Given the description of an element on the screen output the (x, y) to click on. 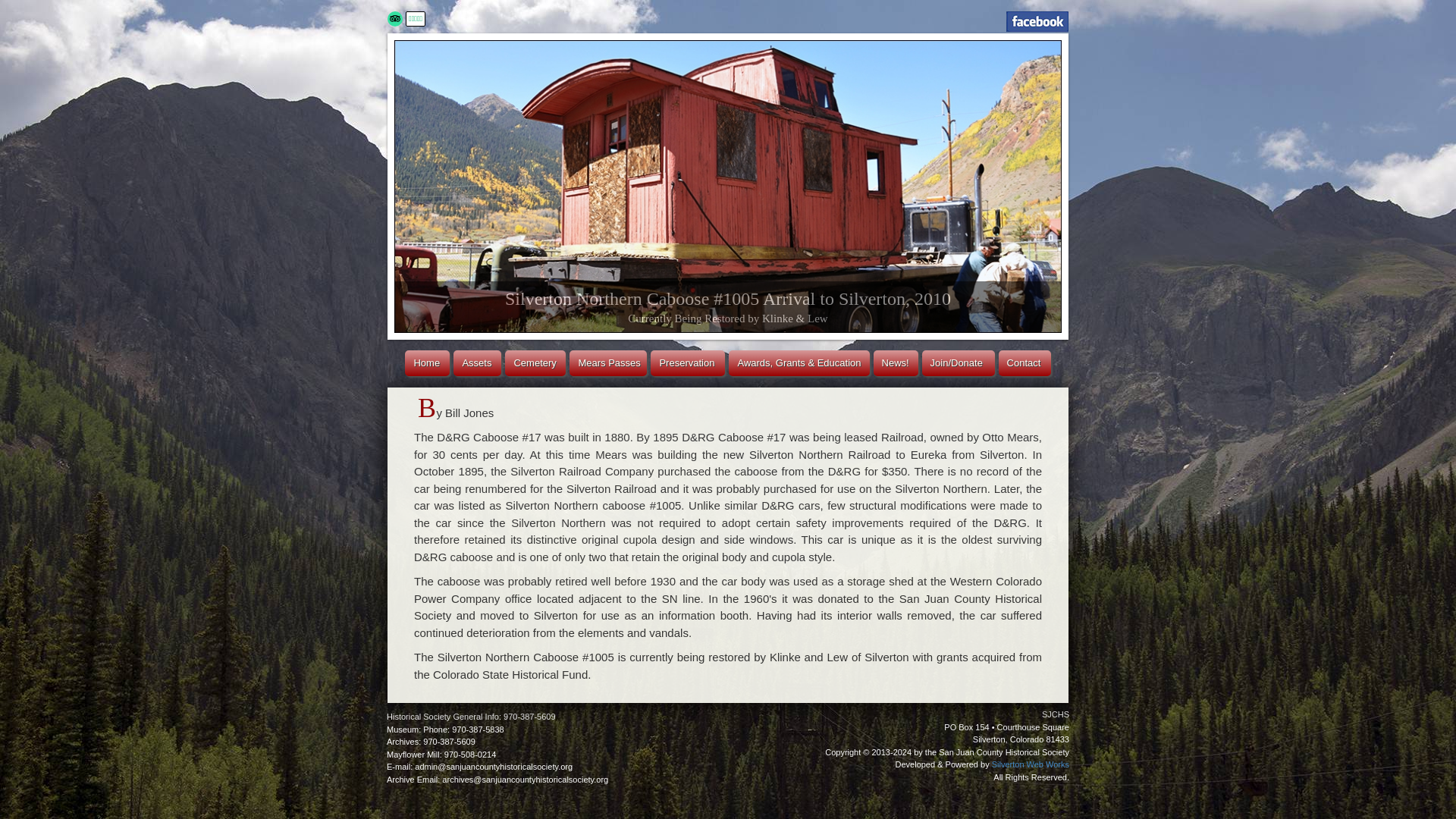
Cemetery (535, 362)
Mears Passes (607, 362)
Read reviews on Tripadvisor  (395, 18)
Silverton Web Works (1029, 764)
Preservation (687, 362)
Home (426, 362)
Visit Us On Facebook! (1037, 21)
News! (895, 362)
Contact (1024, 362)
Assets (476, 362)
